Given the description of an element on the screen output the (x, y) to click on. 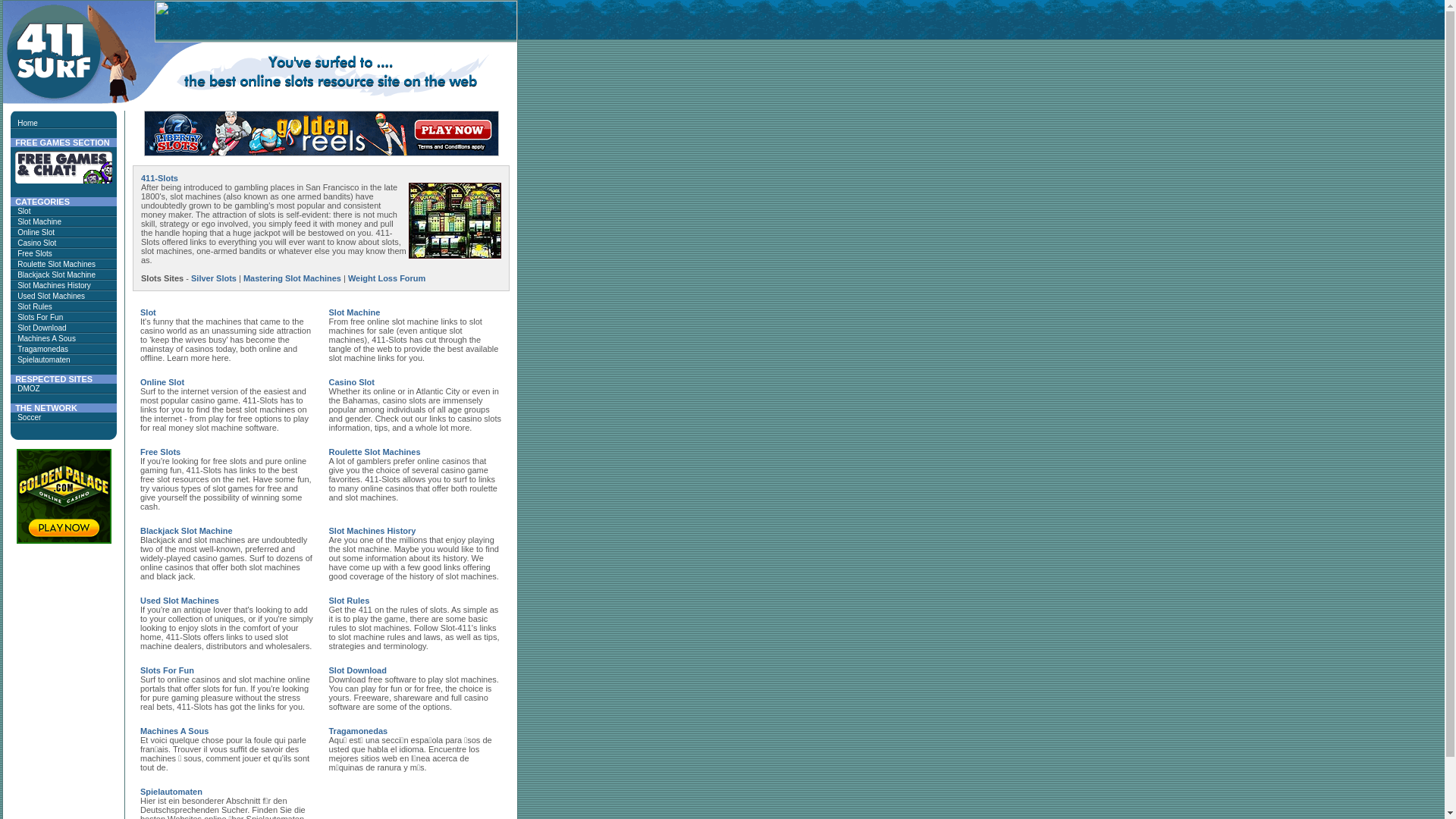
Slot Element type: text (23, 211)
Slot Machine Element type: text (354, 311)
Slot Machine Element type: text (39, 221)
Spielautomaten Element type: text (171, 791)
Slots For Fun Element type: text (167, 669)
Slot Download Element type: text (357, 669)
Machines A Sous Element type: text (174, 730)
Used Slot Machines Element type: text (50, 295)
Slot Machines History Element type: text (372, 530)
DMOZ Element type: text (28, 388)
Slot Rules Element type: text (34, 306)
Roulette Slot Machines Element type: text (56, 264)
Slot Element type: text (148, 311)
Silver Slots Element type: text (213, 277)
Slot Machines History Element type: text (54, 285)
Free Slots Element type: text (160, 451)
Slot Rules Element type: text (349, 600)
Free Slots Element type: text (34, 253)
Online Slot Element type: text (162, 381)
Slot Download Element type: text (41, 327)
Blackjack Slot Machine Element type: text (56, 274)
Spielautomaten Element type: text (43, 359)
Home Element type: text (27, 123)
Soccer Element type: text (28, 417)
Weight Loss Forum Element type: text (386, 277)
Online Slot Element type: text (35, 232)
411-Slots Element type: text (159, 177)
Casino Slot Element type: text (36, 242)
Roulette Slot Machines Element type: text (374, 451)
Blackjack Slot Machine Element type: text (186, 530)
Casino Slot Element type: text (352, 381)
Tragamonedas Element type: text (42, 349)
Used Slot Machines Element type: text (179, 600)
Mastering Slot Machines Element type: text (292, 277)
Play Now! Element type: hover (63, 495)
Tragamonedas Element type: text (358, 730)
Slots For Fun Element type: text (39, 317)
Machines A Sous Element type: text (46, 338)
